Given the description of an element on the screen output the (x, y) to click on. 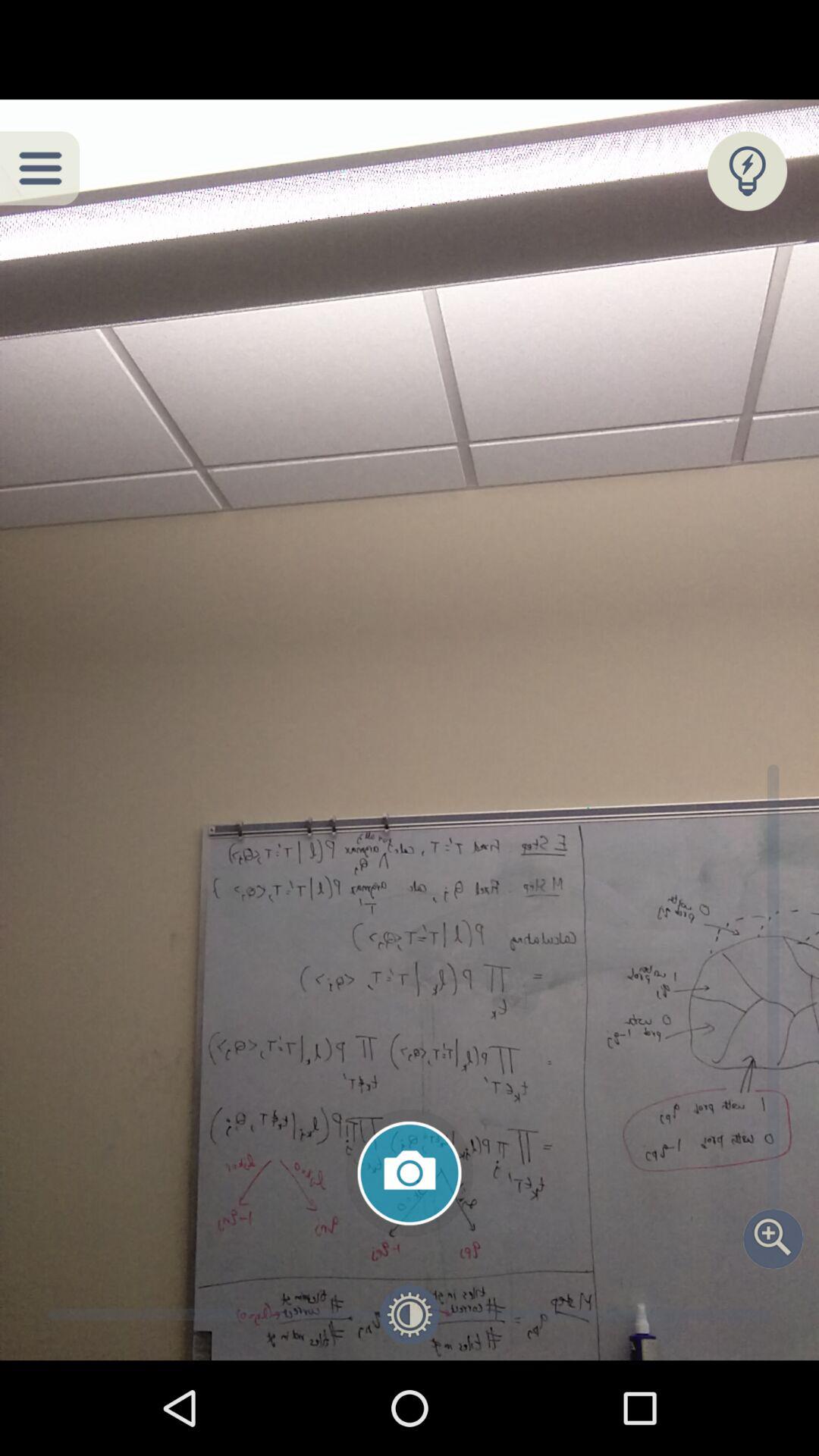
expand menu (39, 168)
